Given the description of an element on the screen output the (x, y) to click on. 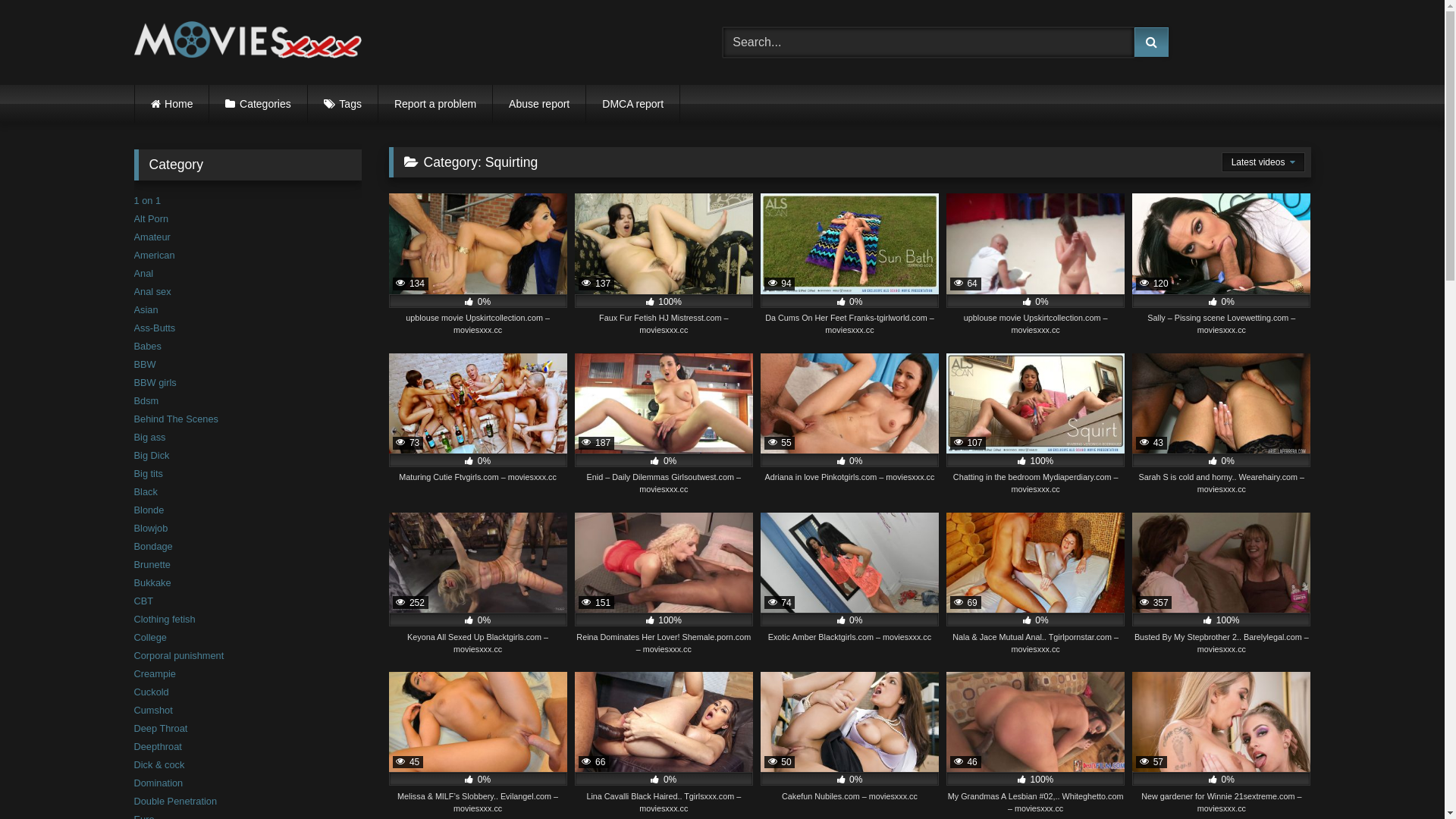
Tags Element type: text (342, 103)
Bukkake Element type: text (151, 582)
Anal sex Element type: text (151, 291)
American Element type: text (153, 254)
Clothing fetish Element type: text (163, 618)
Home Element type: text (171, 103)
Double Penetration Element type: text (174, 800)
Ass-Butts Element type: text (154, 327)
1 on 1 Element type: text (146, 200)
Blonde Element type: text (148, 509)
Big tits Element type: text (147, 473)
Anal Element type: text (143, 273)
Cuckold Element type: text (150, 691)
Cumshot Element type: text (152, 709)
Categories Element type: text (257, 103)
Deepthroat Element type: text (157, 746)
Big Dick Element type: text (151, 455)
BBW Element type: text (144, 364)
Big ass Element type: text (149, 436)
College Element type: text (149, 637)
DMCA report Element type: text (632, 103)
Brunette Element type: text (151, 564)
Alt Porn Element type: text (150, 218)
Amateur Element type: text (151, 236)
Report a problem Element type: text (435, 103)
CBT Element type: text (143, 600)
Skip to content Element type: text (0, 0)
Creampie Element type: text (154, 673)
Behind The Scenes Element type: text (175, 418)
Asian Element type: text (145, 309)
Blowjob Element type: text (150, 527)
Bondage Element type: text (152, 546)
Dick & cock Element type: text (158, 764)
BBW girls Element type: text (154, 382)
Abuse report Element type: text (538, 103)
Black Element type: text (144, 491)
Deep Throat Element type: text (160, 728)
Bdsm Element type: text (145, 400)
Movies XXX Element type: hover (246, 42)
Domination Element type: text (157, 782)
Babes Element type: text (146, 345)
Corporal punishment Element type: text (178, 655)
